Given the description of an element on the screen output the (x, y) to click on. 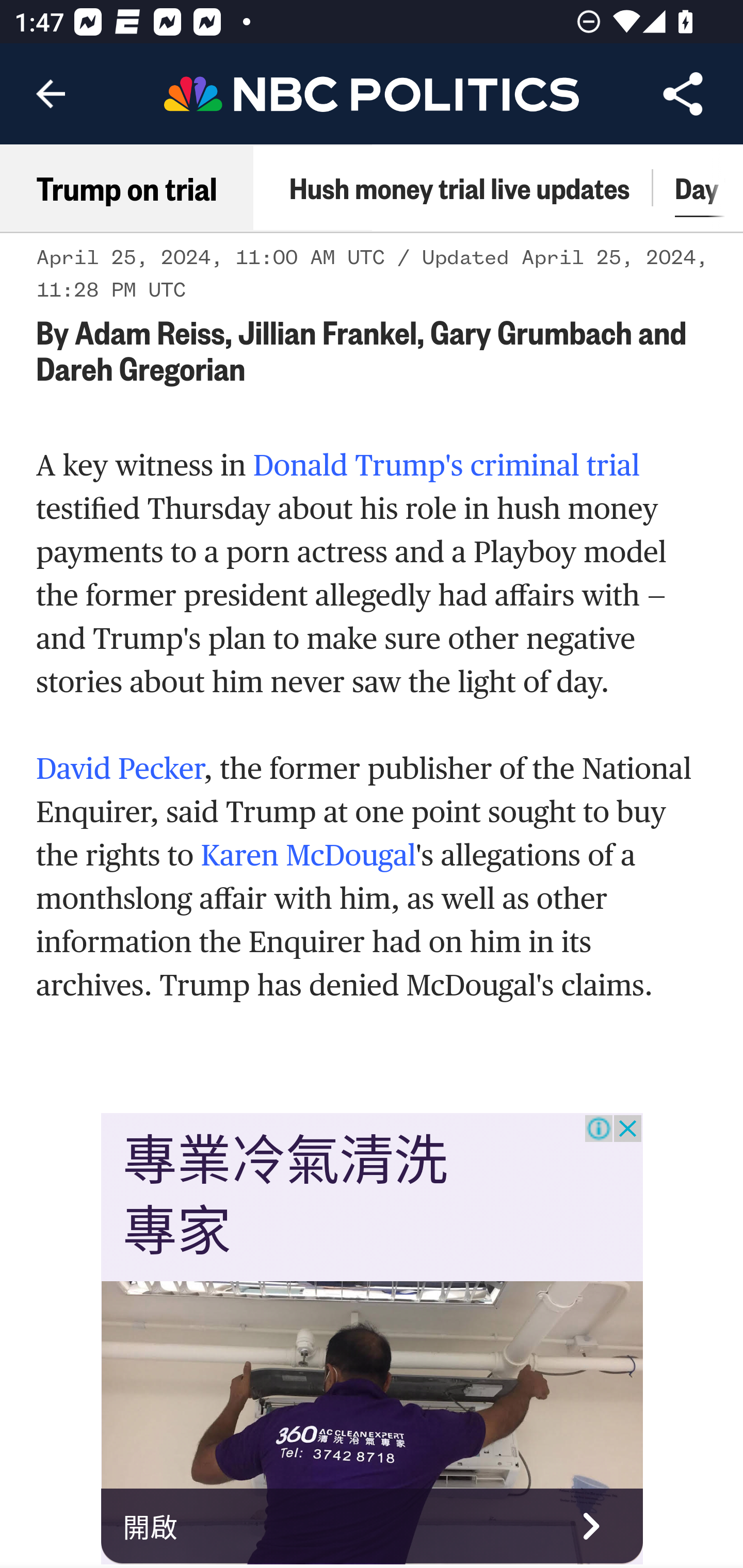
Navigate up (50, 93)
Share Article, button (683, 94)
Header, NBC Politics (371, 93)
Trump on trial (127, 187)
Hush money trial live updates (459, 189)
Jillian Frankel (327, 332)
Gary Grumbach (531, 332)
Dareh Gregorian (140, 369)
Donald Trump (348, 467)
criminal trial (554, 467)
     (372, 622)
David Pecker (119, 769)
Karen McDougal (307, 855)
專業冷氣清洗 專家 專業冷氣清洗 專家 (285, 1197)
開啟 (372, 1526)
